Given the description of an element on the screen output the (x, y) to click on. 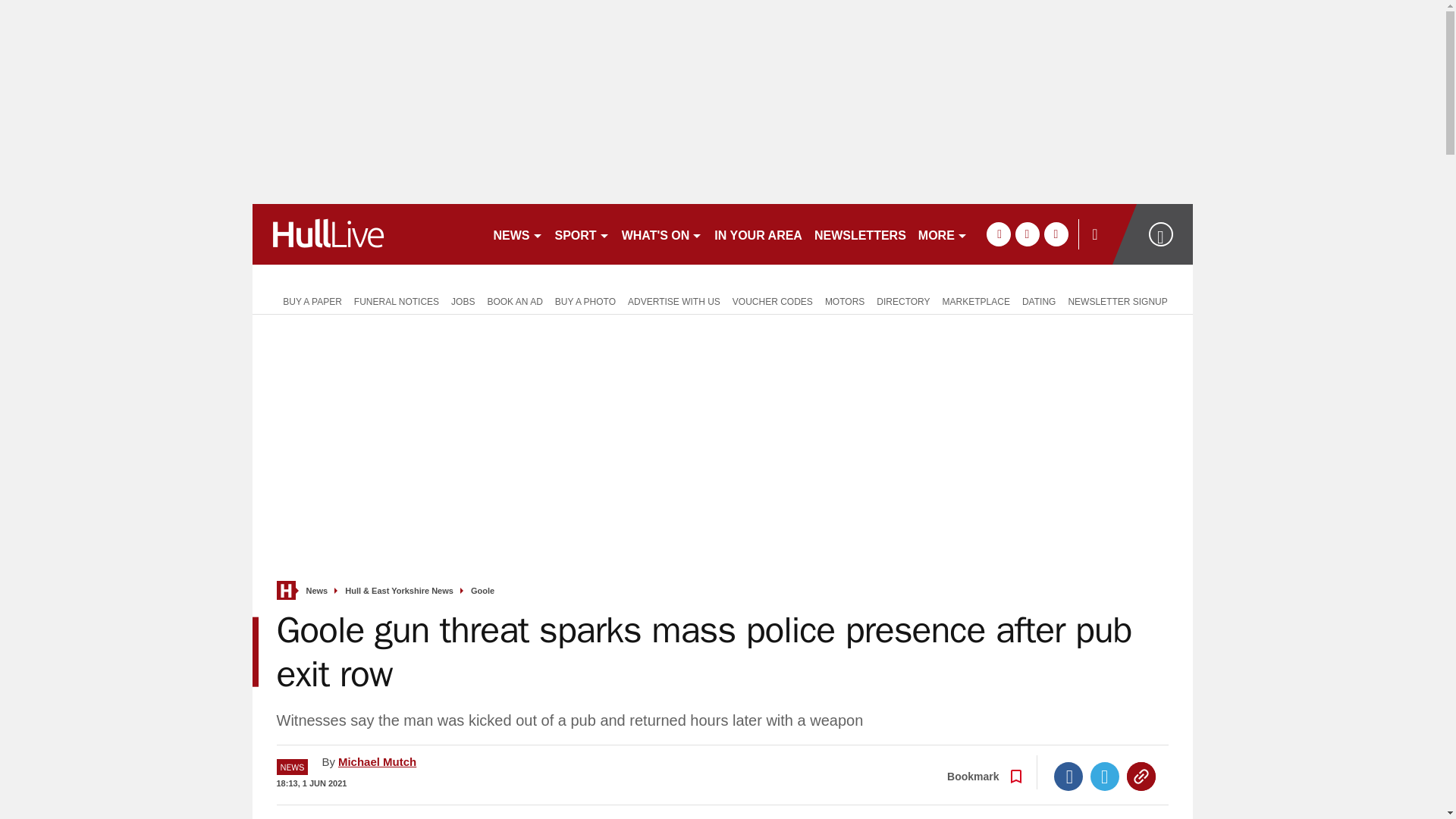
WHAT'S ON (662, 233)
IN YOUR AREA (757, 233)
instagram (1055, 233)
hulldailymail (365, 233)
NEWSLETTERS (860, 233)
facebook (997, 233)
twitter (1026, 233)
Facebook (1068, 776)
SPORT (581, 233)
NEWS (517, 233)
